Given the description of an element on the screen output the (x, y) to click on. 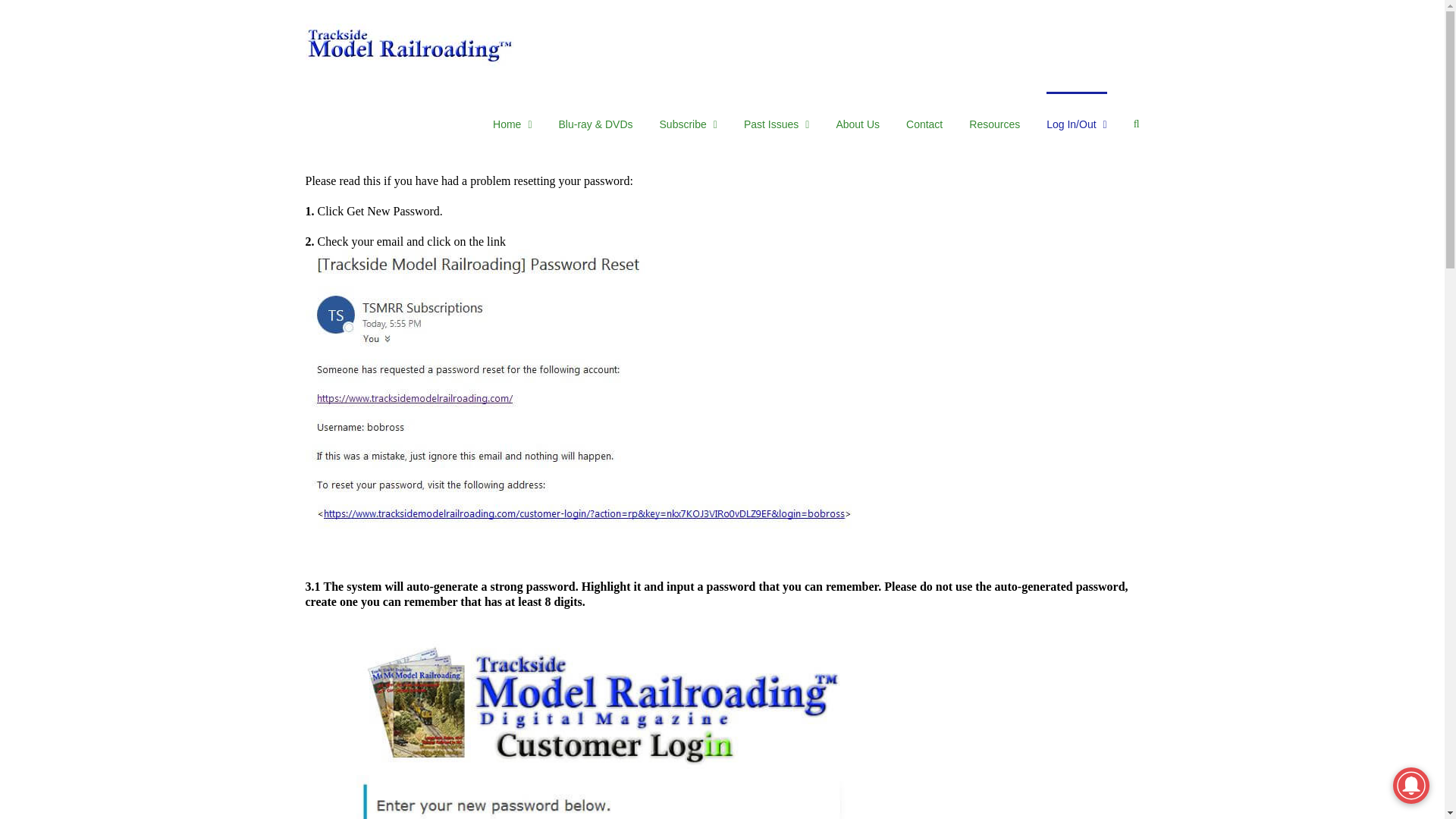
Learn More About Us Here (688, 122)
Subscribe (688, 122)
Past Issues (776, 122)
